Given the description of an element on the screen output the (x, y) to click on. 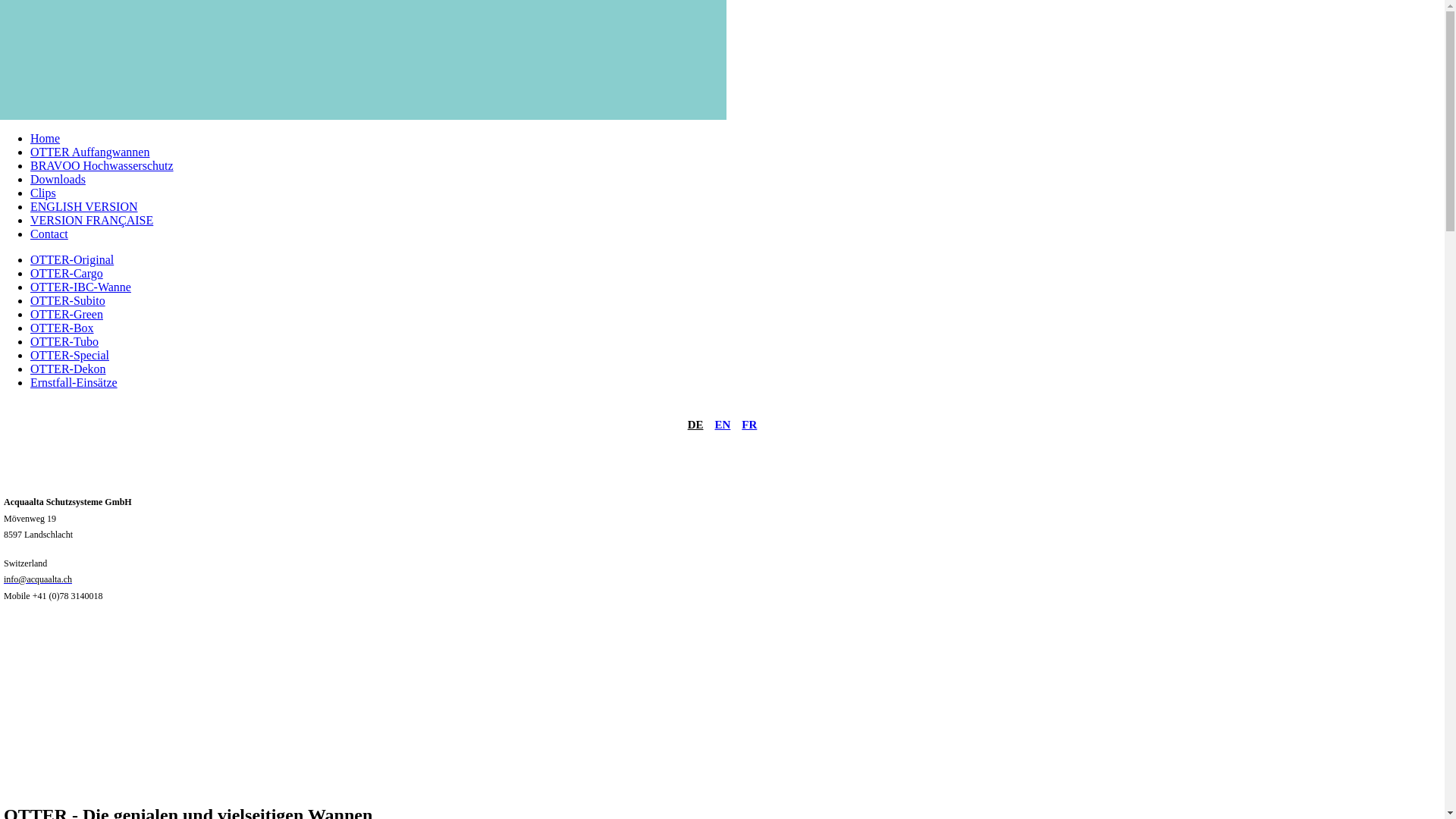
OTTER-IBC-Wanne Element type: text (80, 286)
ENGLISH VERSION Element type: text (83, 206)
OTTER-Box Element type: text (62, 327)
OTTER-Cargo Element type: text (66, 272)
OTTER-Green Element type: text (66, 313)
info@acquaalta.ch Element type: text (37, 577)
OTTER Auffangwannen Element type: text (89, 151)
OTTER-Tubo Element type: text (64, 341)
Contact Element type: text (49, 233)
Home Element type: text (44, 137)
Clips Element type: text (43, 192)
OTTER-Original Element type: text (71, 259)
OTTER-Special Element type: text (69, 354)
EN Element type: text (722, 424)
DE Element type: text (695, 424)
FR Element type: text (748, 424)
Downloads Element type: text (57, 178)
BRAVOO Hochwasserschutz Element type: text (101, 165)
OTTER-Subito Element type: text (67, 300)
OTTER-Dekon Element type: text (68, 368)
